Given the description of an element on the screen output the (x, y) to click on. 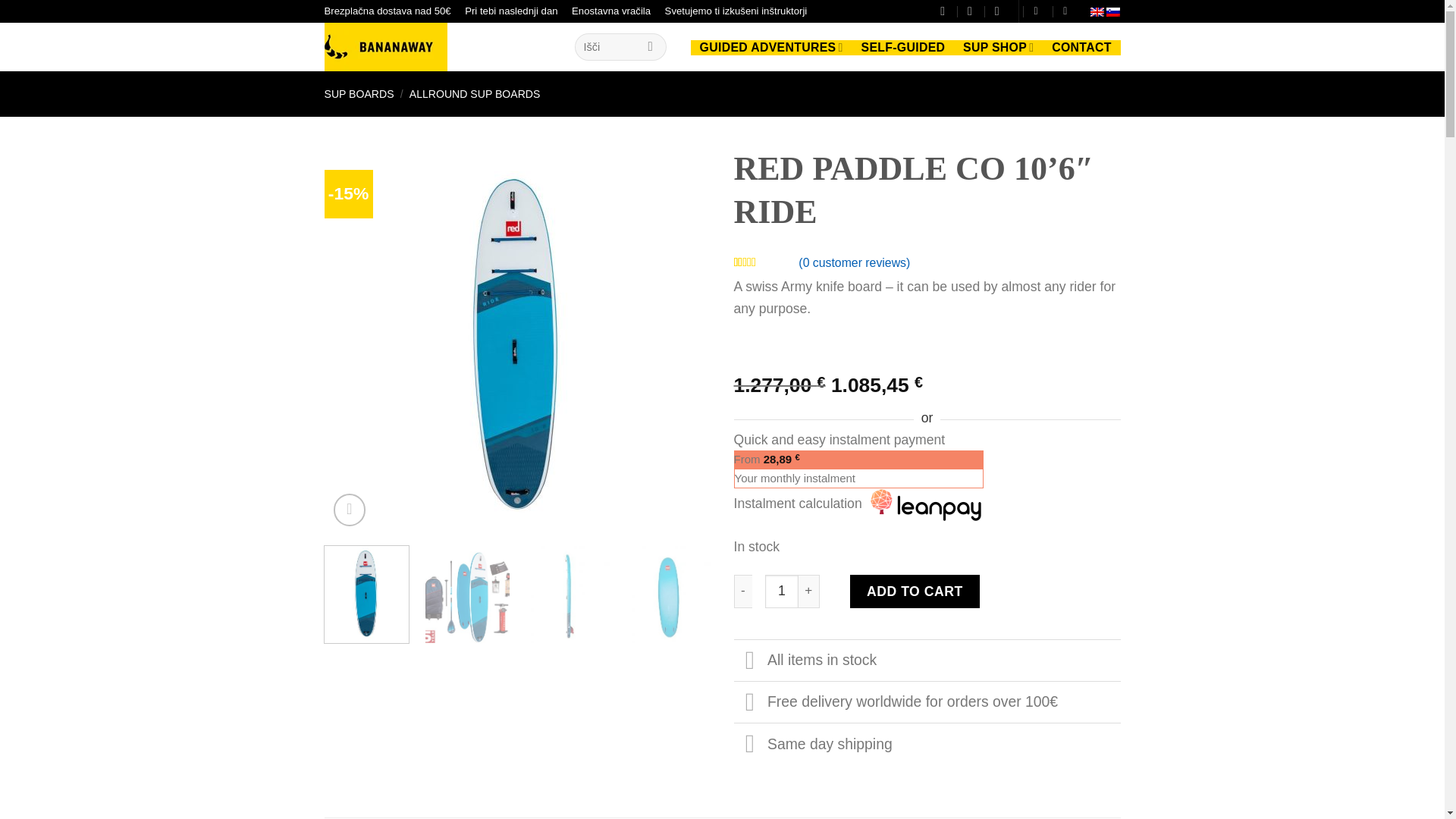
Search (650, 47)
Bananaway UK (1096, 10)
Bananaway - Adventurous SUP travel tours and school. (437, 46)
SELF-GUIDED (903, 47)
GUIDED ADVENTURES (770, 47)
Bananaway Slovenija (1112, 10)
SUP SHOP (997, 47)
Zoom (349, 509)
1 (781, 591)
